Given the description of an element on the screen output the (x, y) to click on. 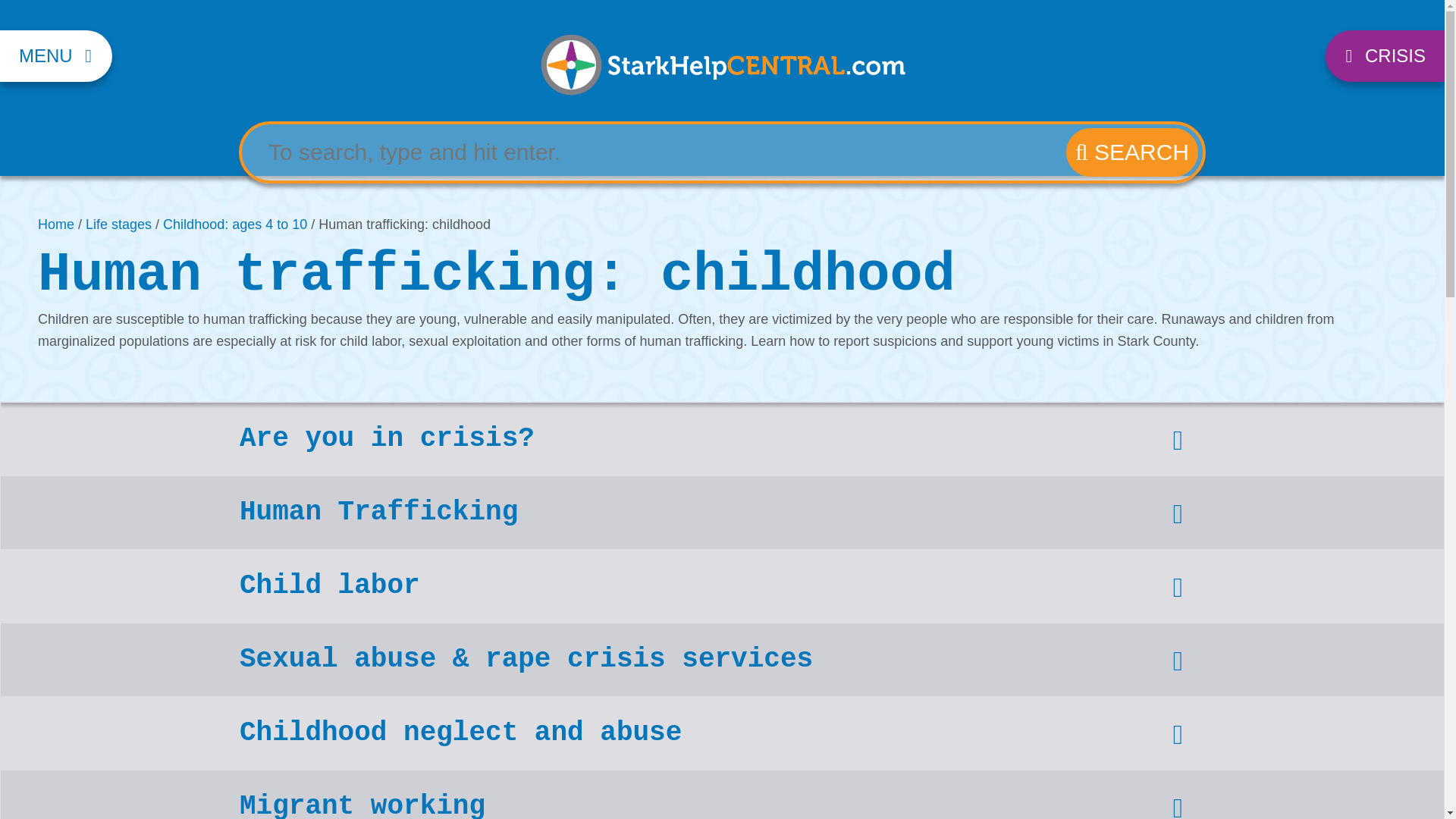
Home (55, 224)
SEARCH (1131, 151)
Life stages (118, 224)
MENU (56, 55)
